Given the description of an element on the screen output the (x, y) to click on. 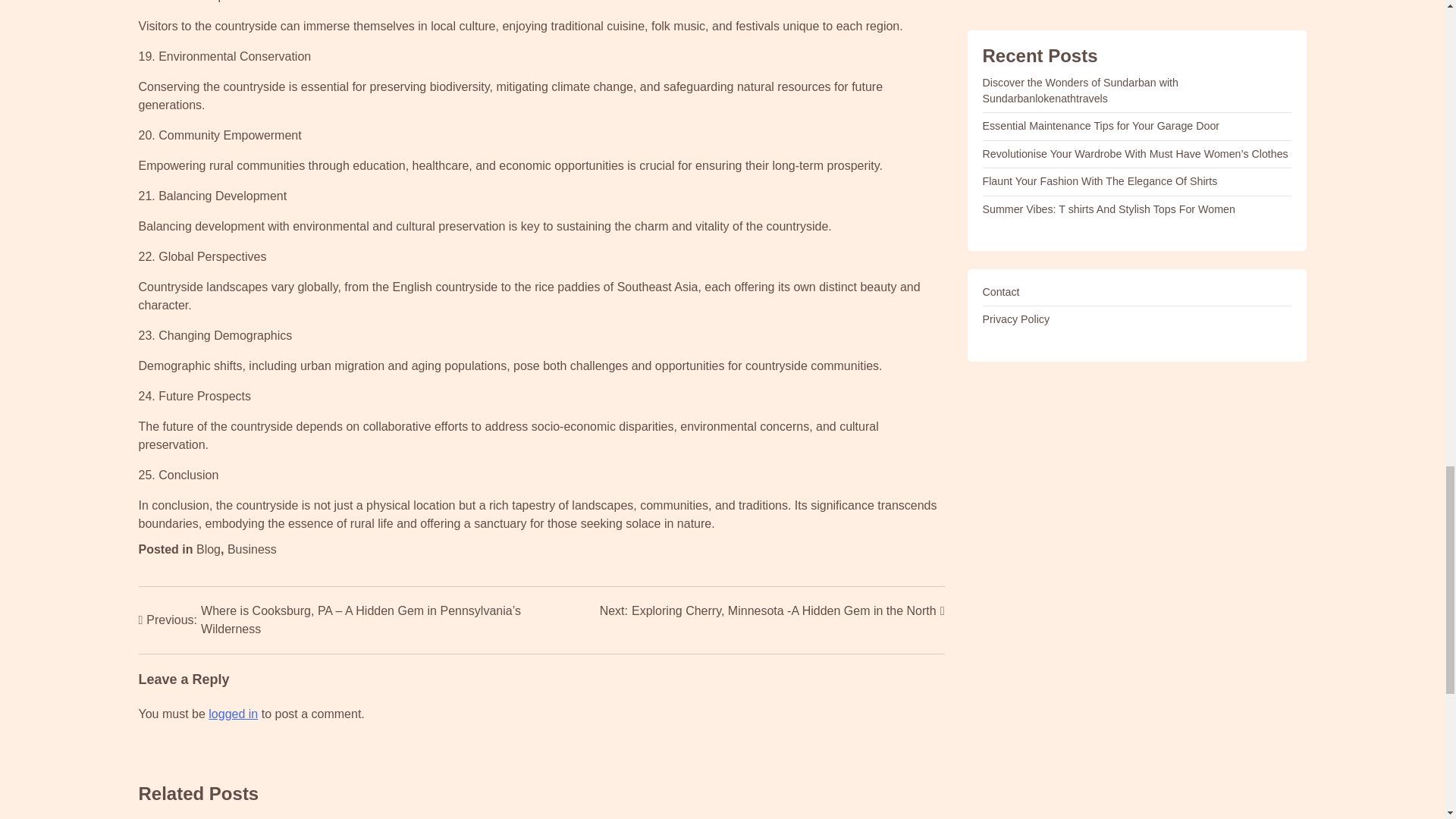
Business (251, 549)
logged in (232, 713)
Blog (208, 549)
